Given the description of an element on the screen output the (x, y) to click on. 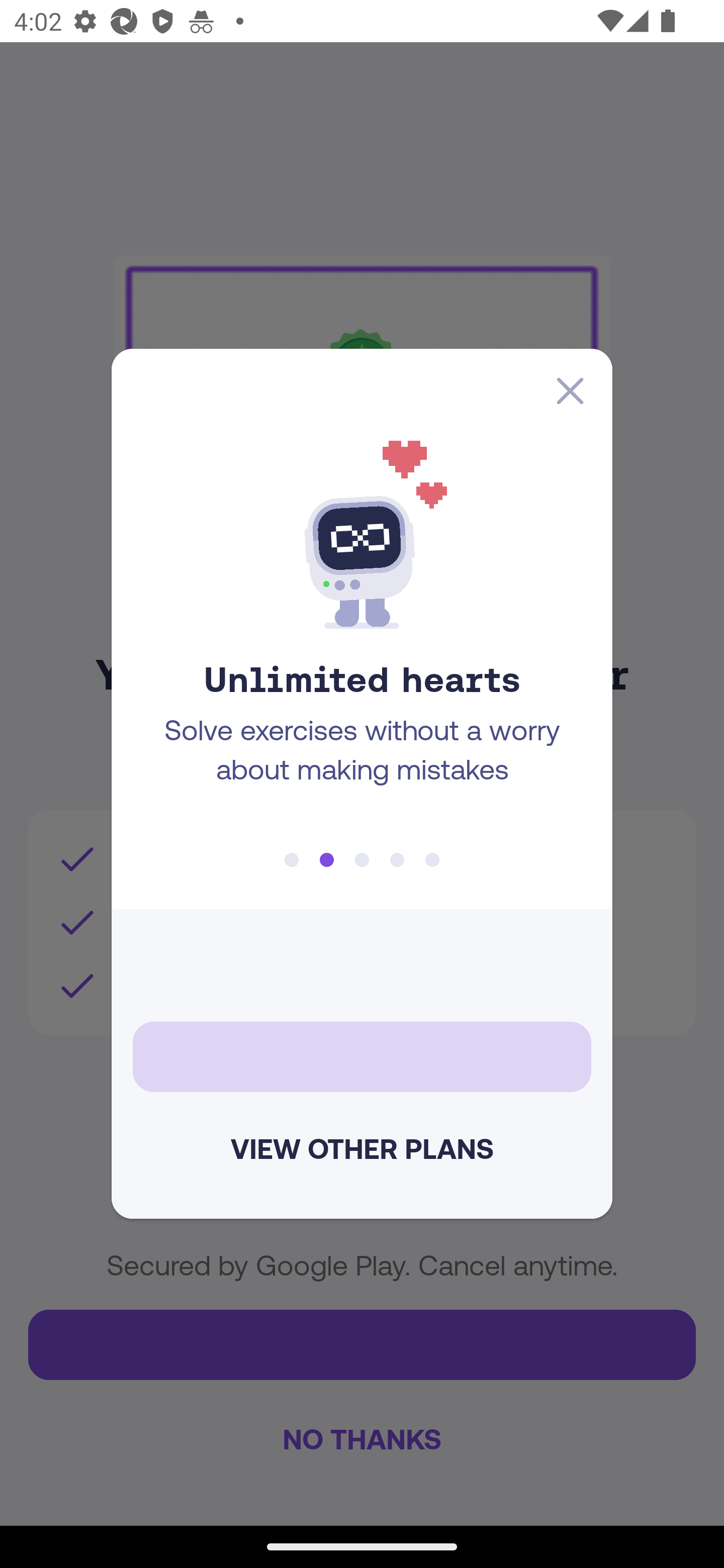
VIEW OTHER PLANS (362, 1147)
